Given the description of an element on the screen output the (x, y) to click on. 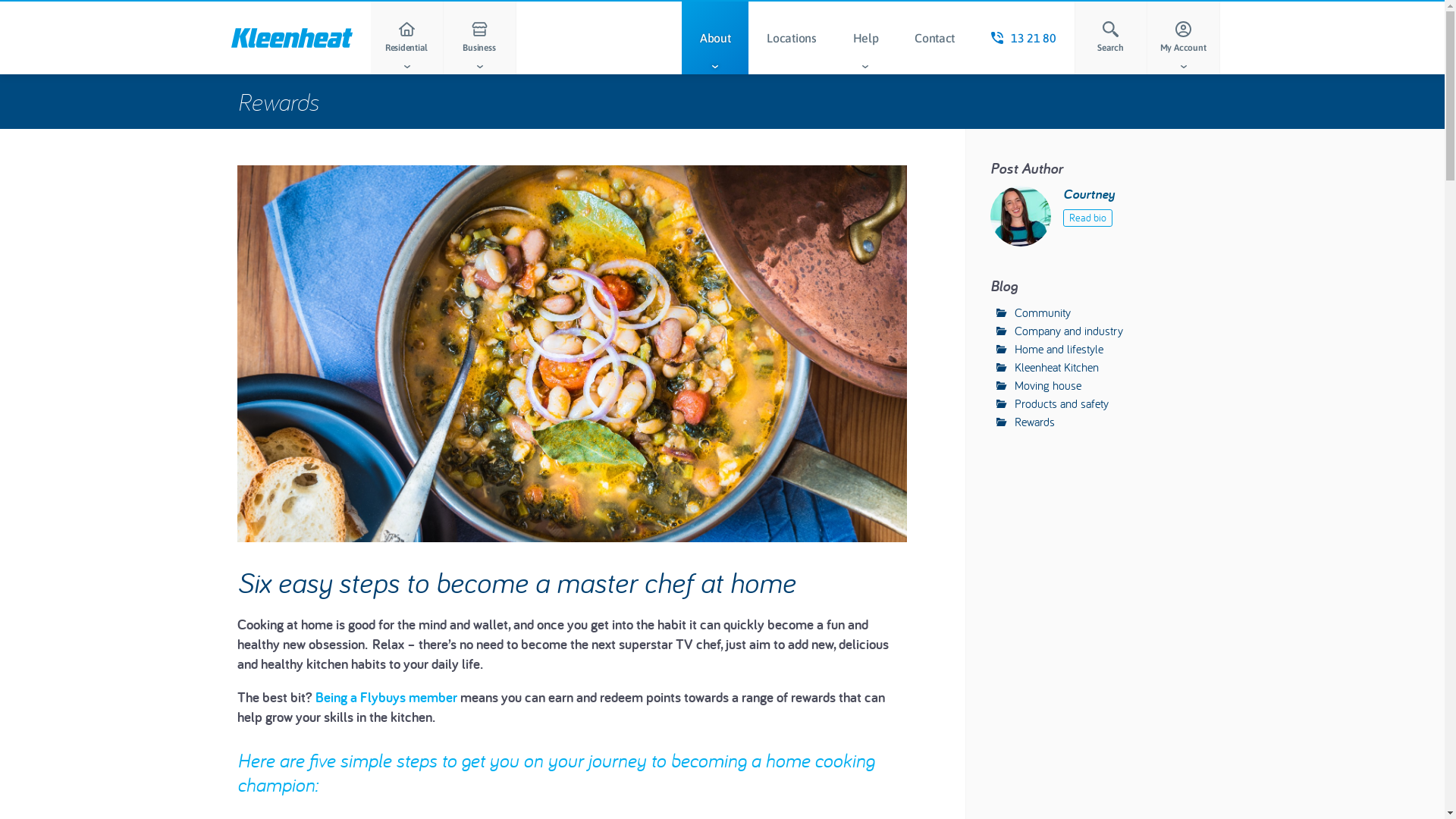
About Element type: text (714, 37)
house Element type: hover (406, 29)
My Account Element type: text (1182, 37)
Business Element type: text (478, 37)
Read bio Element type: text (1087, 218)
Help Element type: text (865, 37)
Home and lifestyle Element type: text (1050, 348)
Chevron down Element type: hover (1182, 66)
Contact Element type: text (934, 37)
Kleenheat Kitchen Element type: text (1047, 366)
13 21 80 Element type: text (1022, 37)
Phone ring Element type: hover (997, 37)
Chevron down Element type: hover (715, 66)
Being a Flybuys member Element type: text (386, 696)
Residential Element type: text (406, 37)
Rewards Element type: text (1025, 421)
Moving house Element type: text (1039, 385)
Company and industry Element type: text (1059, 330)
Community Element type: text (1033, 312)
store Element type: hover (479, 29)
Magnifying glass Element type: hover (1110, 29)
Products and safety Element type: text (1052, 403)
Chevron down Element type: hover (479, 66)
Locations Element type: text (791, 37)
Chevron down Element type: hover (865, 66)
Kleenheat Element type: hover (290, 37)
User Element type: hover (1183, 29)
Chevron down Element type: hover (406, 66)
Kleenheat Element type: text (291, 37)
Rewards Element type: text (276, 101)
